Given the description of an element on the screen output the (x, y) to click on. 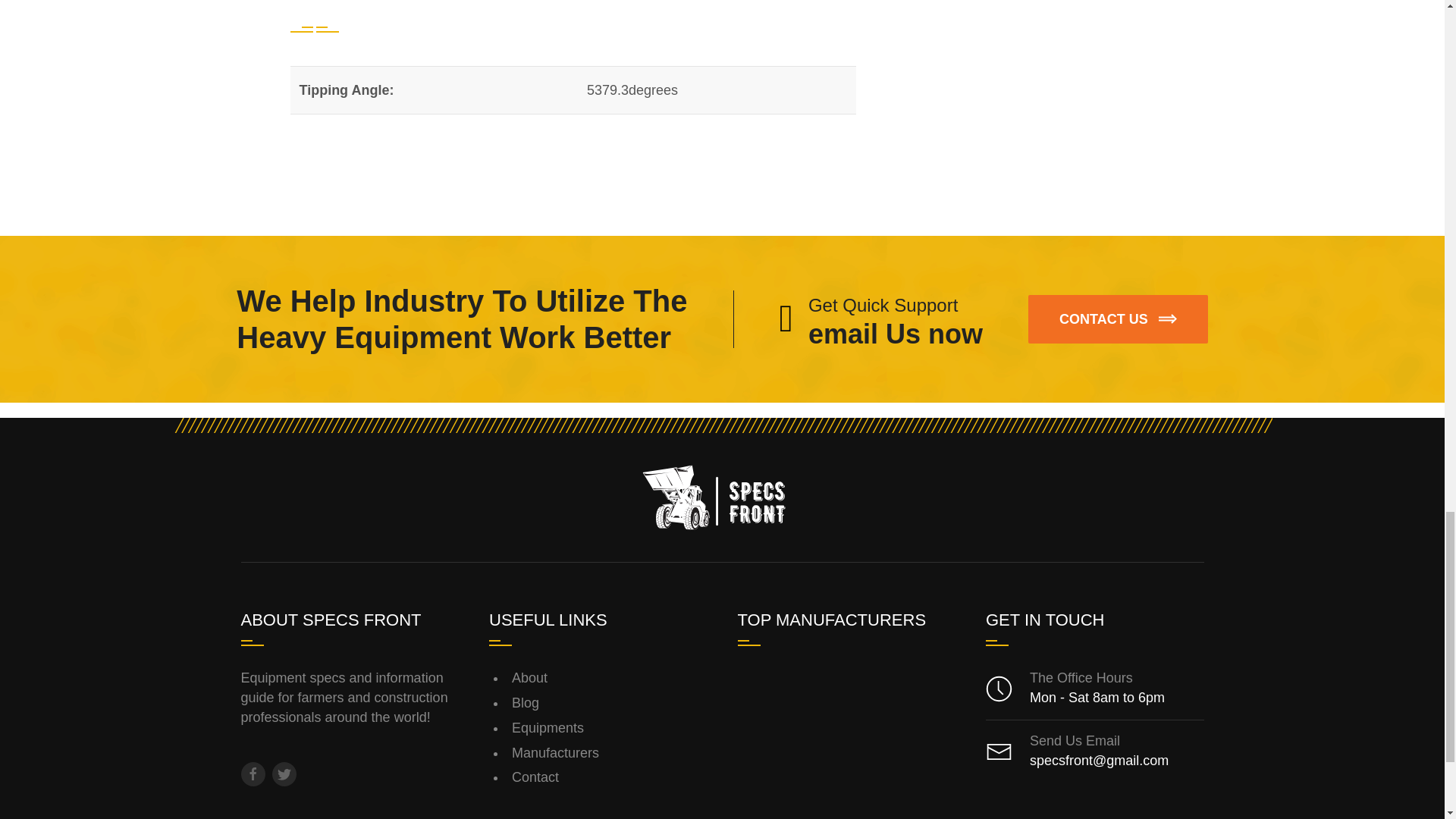
About (880, 319)
Manufacturers (609, 678)
Equipments (609, 753)
CONTACT US (609, 728)
Blog (1117, 318)
Contact (609, 703)
